Given the description of an element on the screen output the (x, y) to click on. 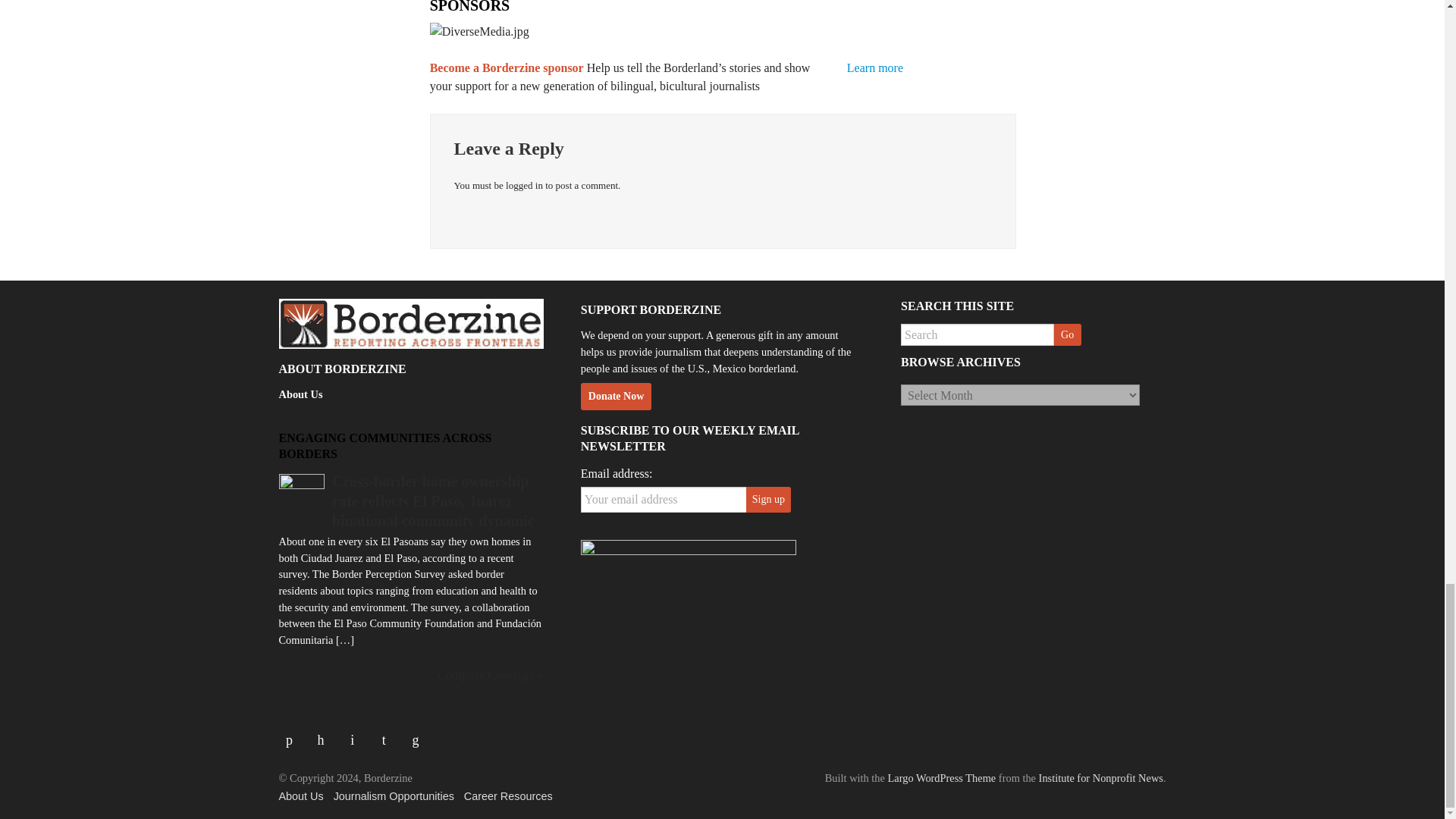
Link to Twitter Page (326, 733)
Link to Facebook Profile (295, 733)
Link to YouTube Page (358, 733)
Sign up (767, 499)
